Given the description of an element on the screen output the (x, y) to click on. 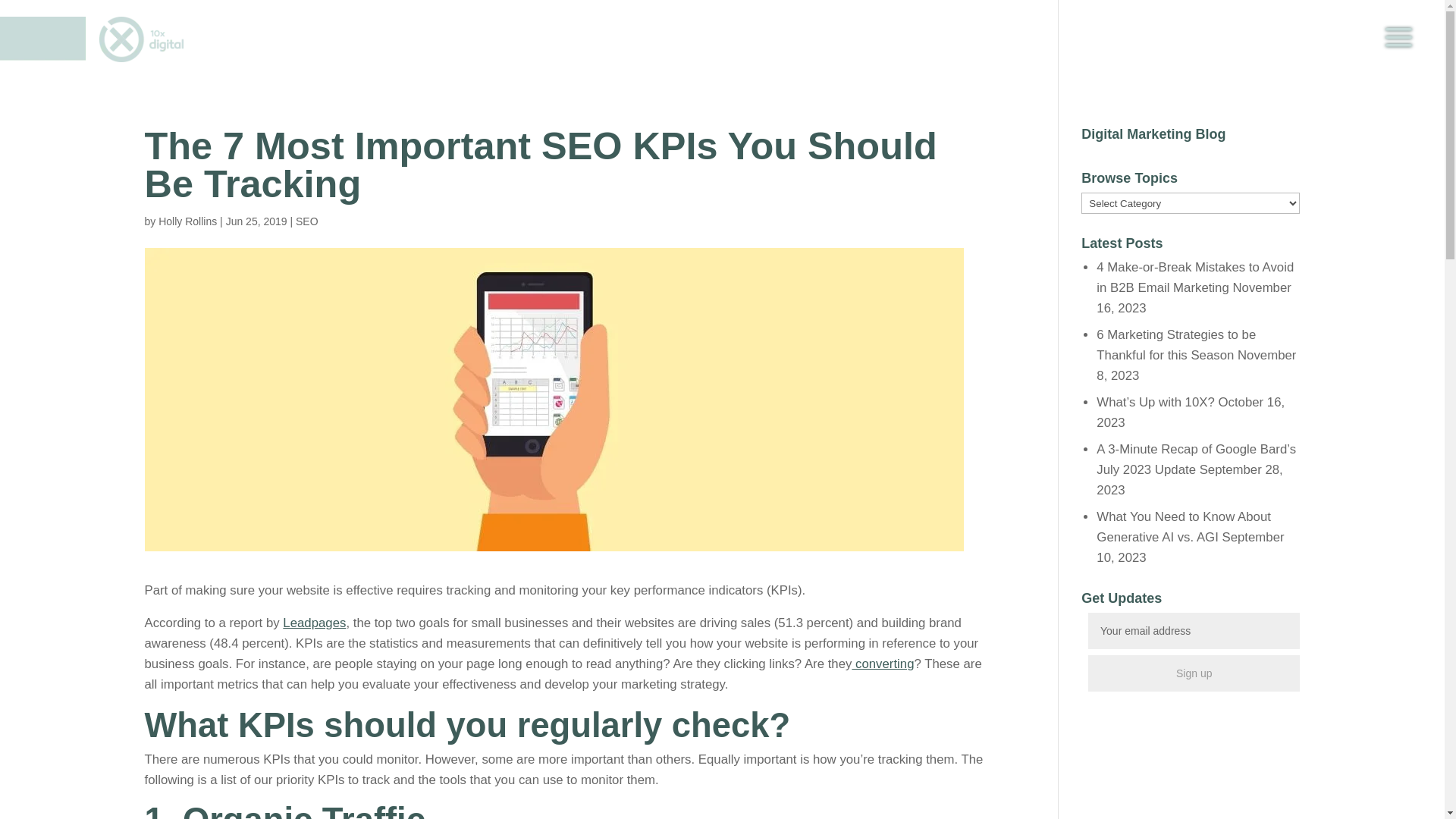
Sign up Element type: text (1193, 673)
Digital Marketing Blog Element type: text (1153, 133)
6 Marketing Strategies to be Thankful for this Season Element type: text (1175, 344)
Holly Rollins Element type: text (187, 221)
What You Need to Know About Generative AI vs. AGI Element type: text (1183, 526)
4 Make-or-Break Mistakes to Avoid in B2B Email Marketing Element type: text (1194, 277)
SEO Element type: text (306, 221)
Leadpages Element type: text (313, 622)
converting Element type: text (882, 663)
